Given the description of an element on the screen output the (x, y) to click on. 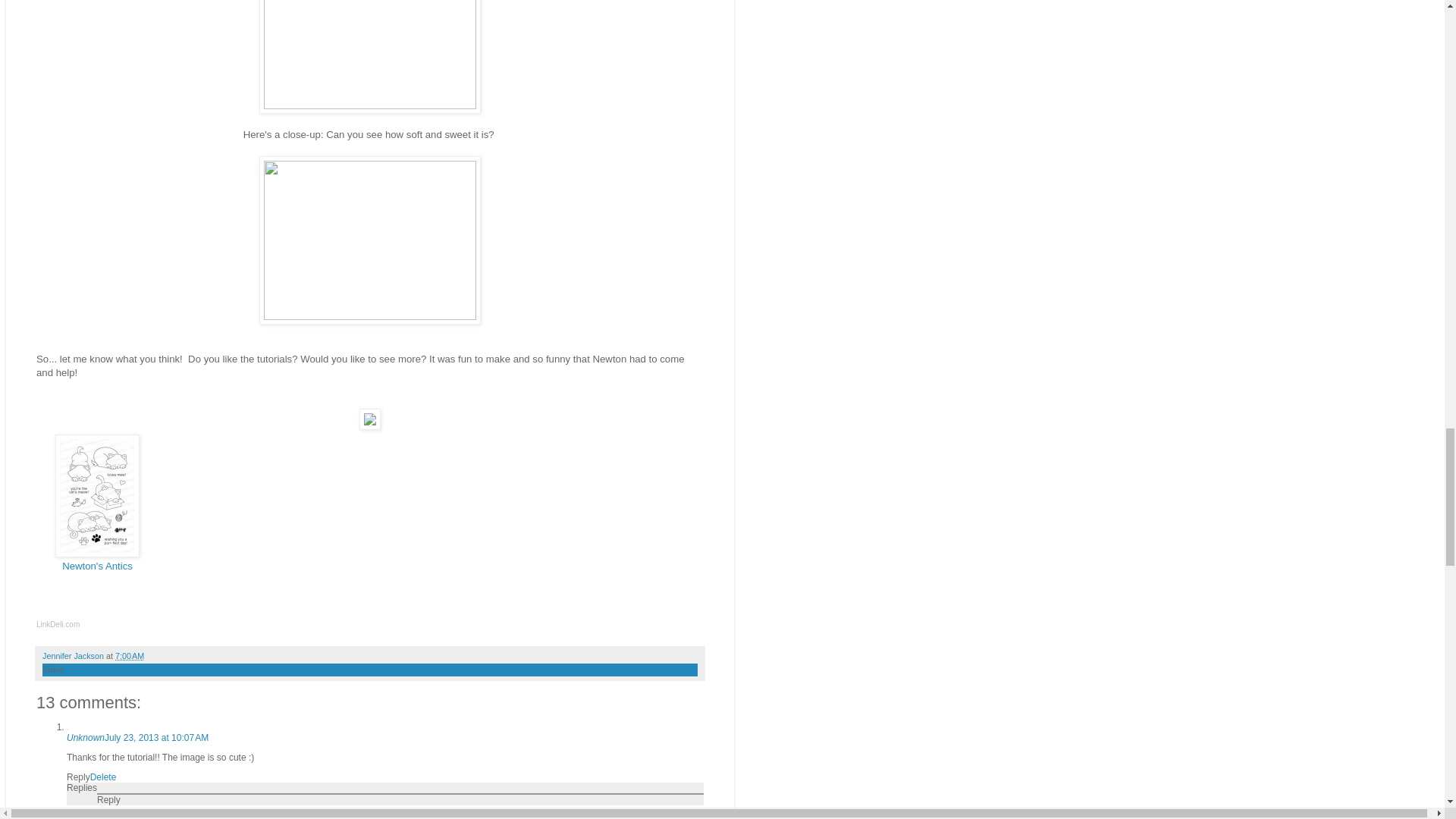
Newton's Antics (97, 565)
author profile (74, 655)
Newton's Antics (97, 553)
permanent link (129, 655)
Jennifer Jackson (74, 655)
Newton's Antics (97, 565)
Unknown (85, 737)
Replies (81, 787)
Reply (108, 799)
LinkDeli.com (58, 623)
Delete (103, 777)
